Given the description of an element on the screen output the (x, y) to click on. 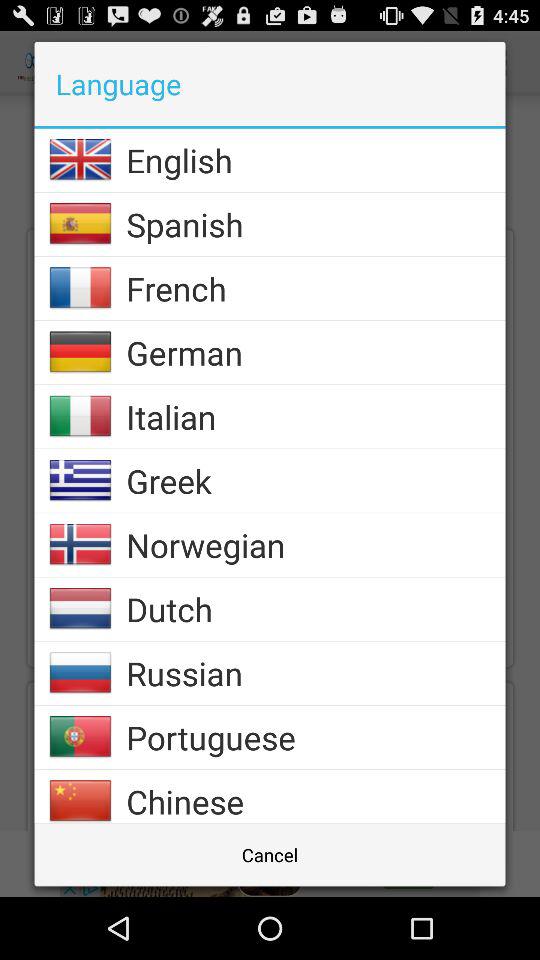
scroll to greek app (315, 480)
